Given the description of an element on the screen output the (x, y) to click on. 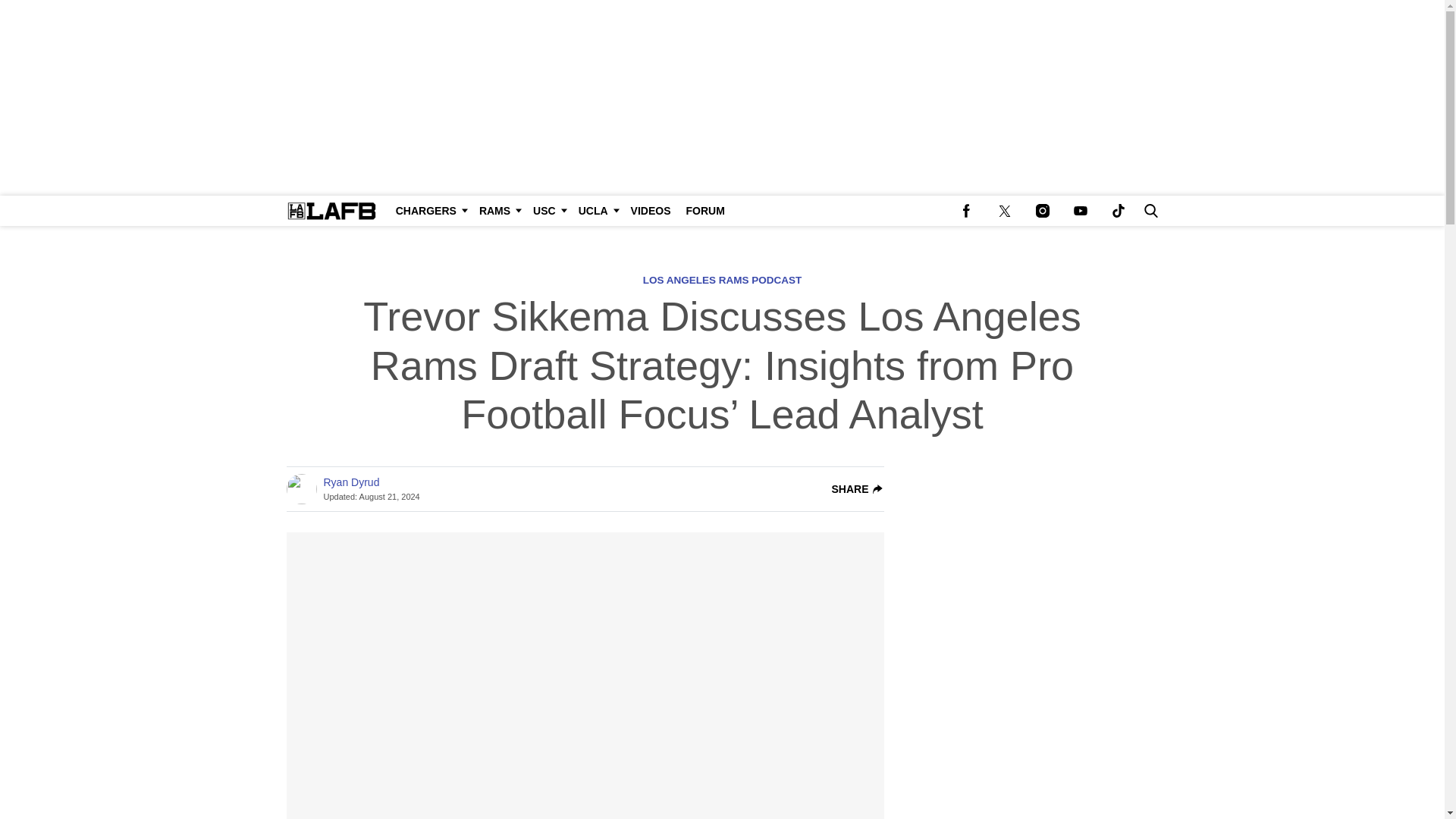
CHARGERS (429, 210)
VIDEOS (650, 210)
Ryan Dyrud (350, 482)
Subscribe to our YouTube channel (1080, 210)
Subscribe to our TikTok channel (1118, 210)
RAMS (498, 210)
LOS ANGELES RAMS PODCAST (722, 279)
UCLA (596, 210)
Follow us on Twitter (1004, 210)
FORUM (705, 210)
